Given the description of an element on the screen output the (x, y) to click on. 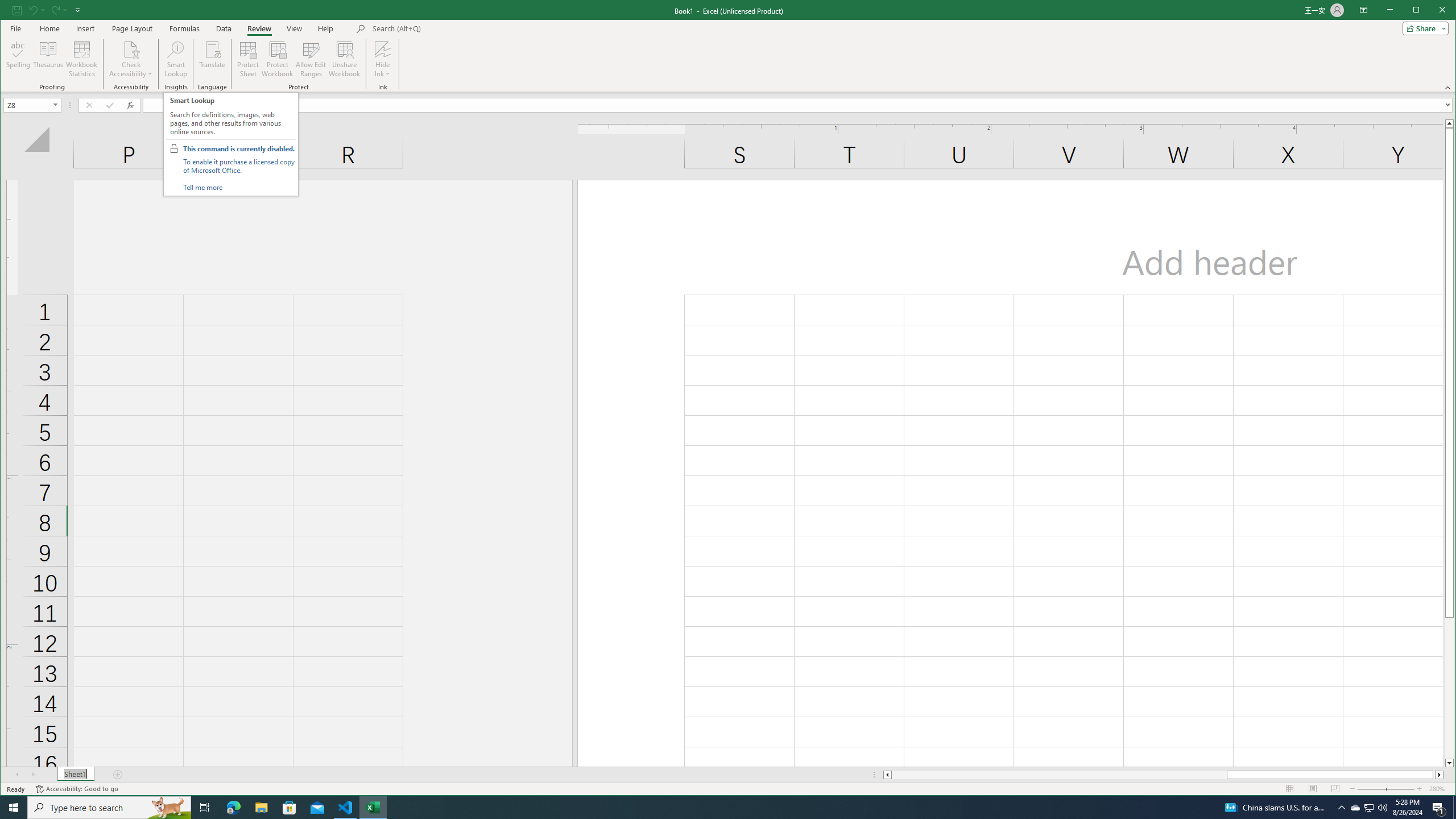
Start (13, 807)
Running applications (717, 807)
Column right (1439, 774)
Microsoft search (451, 28)
Action Center, 1 new notification (1439, 807)
Type here to search (108, 807)
Sheet1 (75, 774)
Protect Sheet... (247, 59)
User Promoted Notification Area (1368, 807)
Allow Edit Ranges (1368, 807)
Line down (310, 59)
